Given the description of an element on the screen output the (x, y) to click on. 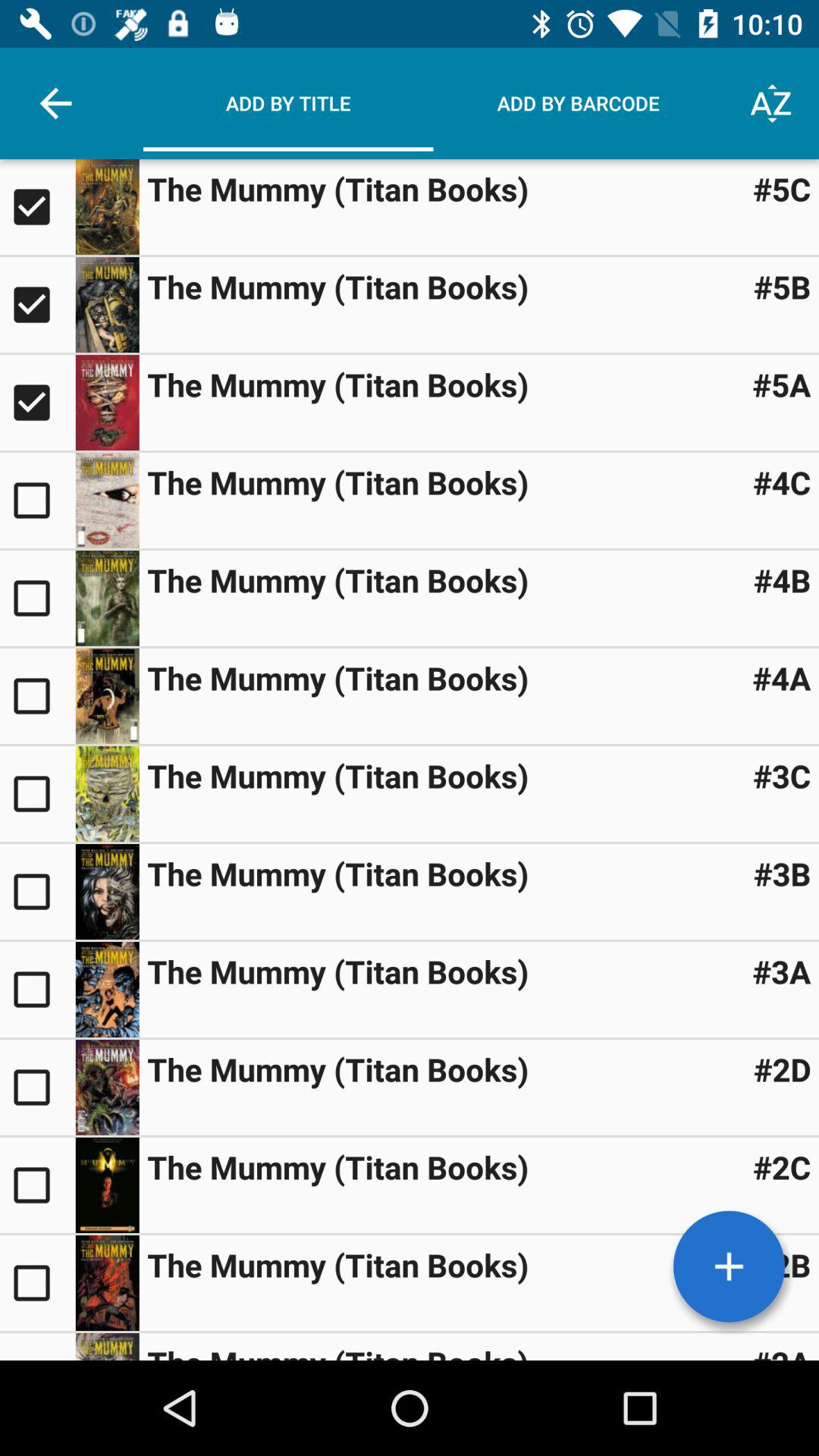
select option (37, 695)
